Given the description of an element on the screen output the (x, y) to click on. 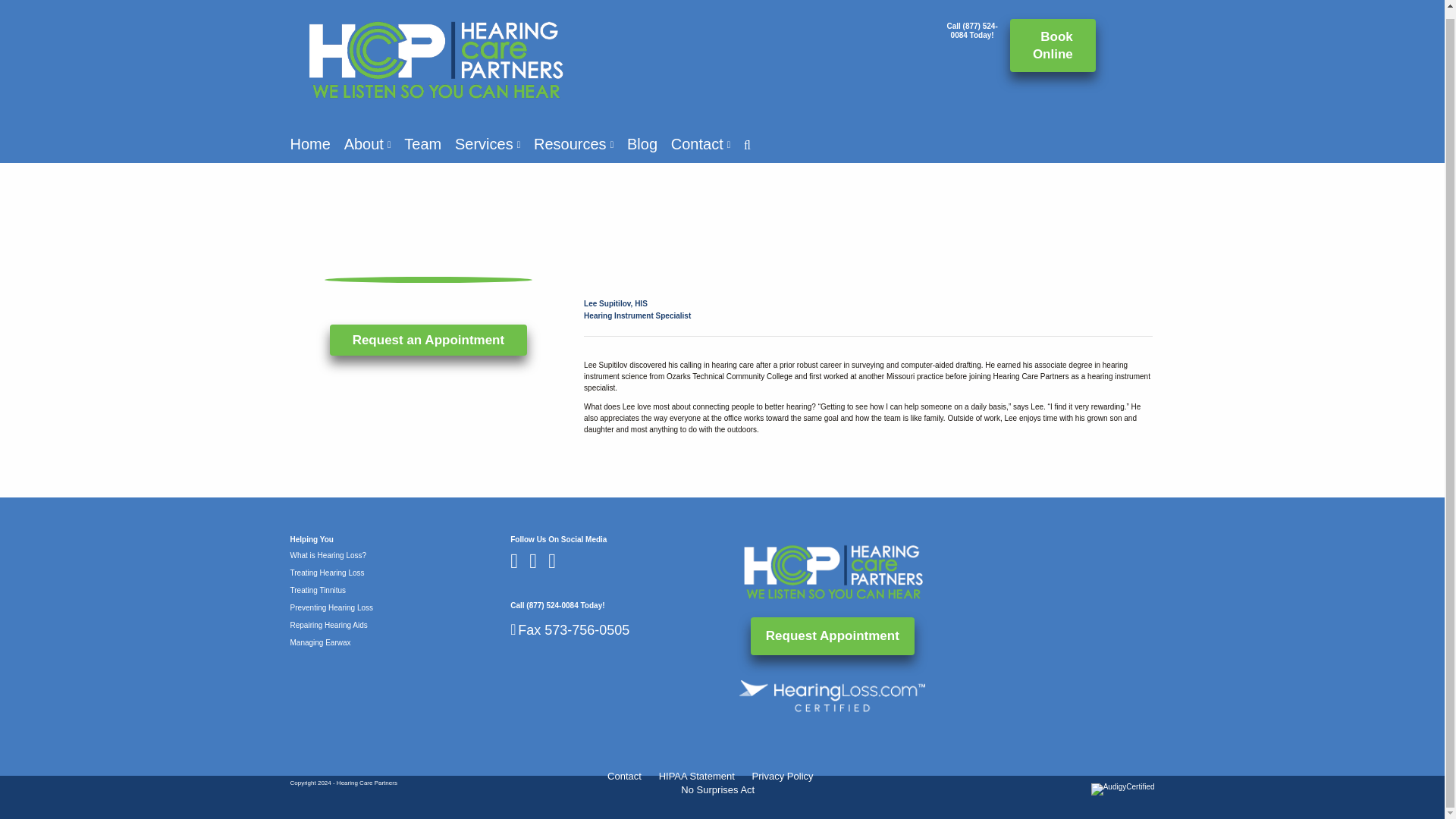
Home (309, 143)
Services (486, 143)
About (367, 143)
Blog (642, 143)
Resources (573, 143)
Book Online (1053, 45)
Team (422, 143)
